Given the description of an element on the screen output the (x, y) to click on. 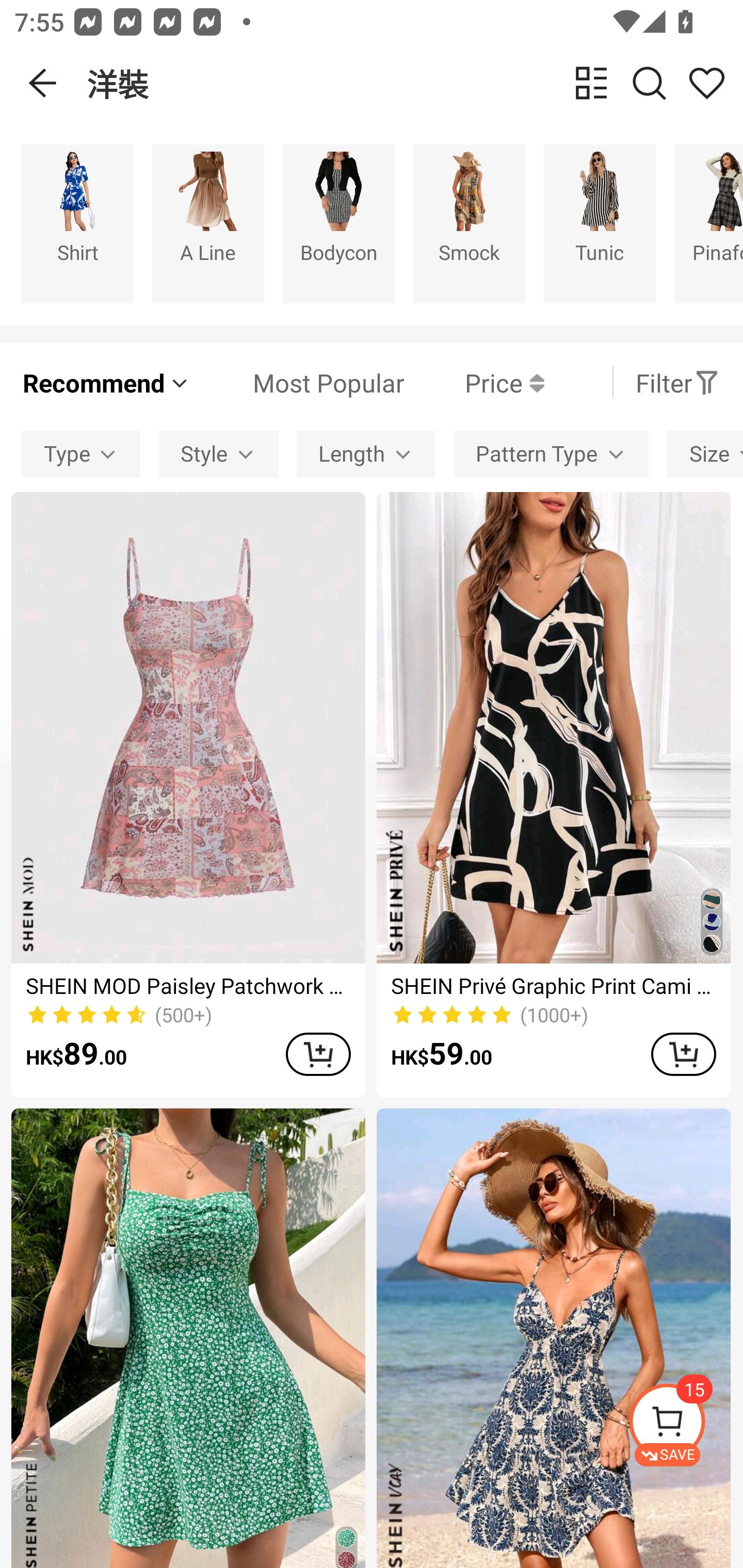
洋裝 change view Search Share (414, 82)
change view (591, 82)
Search (648, 82)
Share (706, 82)
Shirt (77, 223)
A Line (208, 223)
Bodycon (338, 223)
Smock (469, 223)
Tunic (599, 223)
Pinafore (708, 223)
Recommend (106, 382)
Most Popular (297, 382)
Price (474, 382)
Filter (677, 382)
Type (80, 454)
Style (218, 454)
Length (365, 454)
Pattern Type (550, 454)
Size (705, 454)
ADD TO CART (318, 1054)
ADD TO CART (683, 1054)
SAVE (685, 1424)
